Given the description of an element on the screen output the (x, y) to click on. 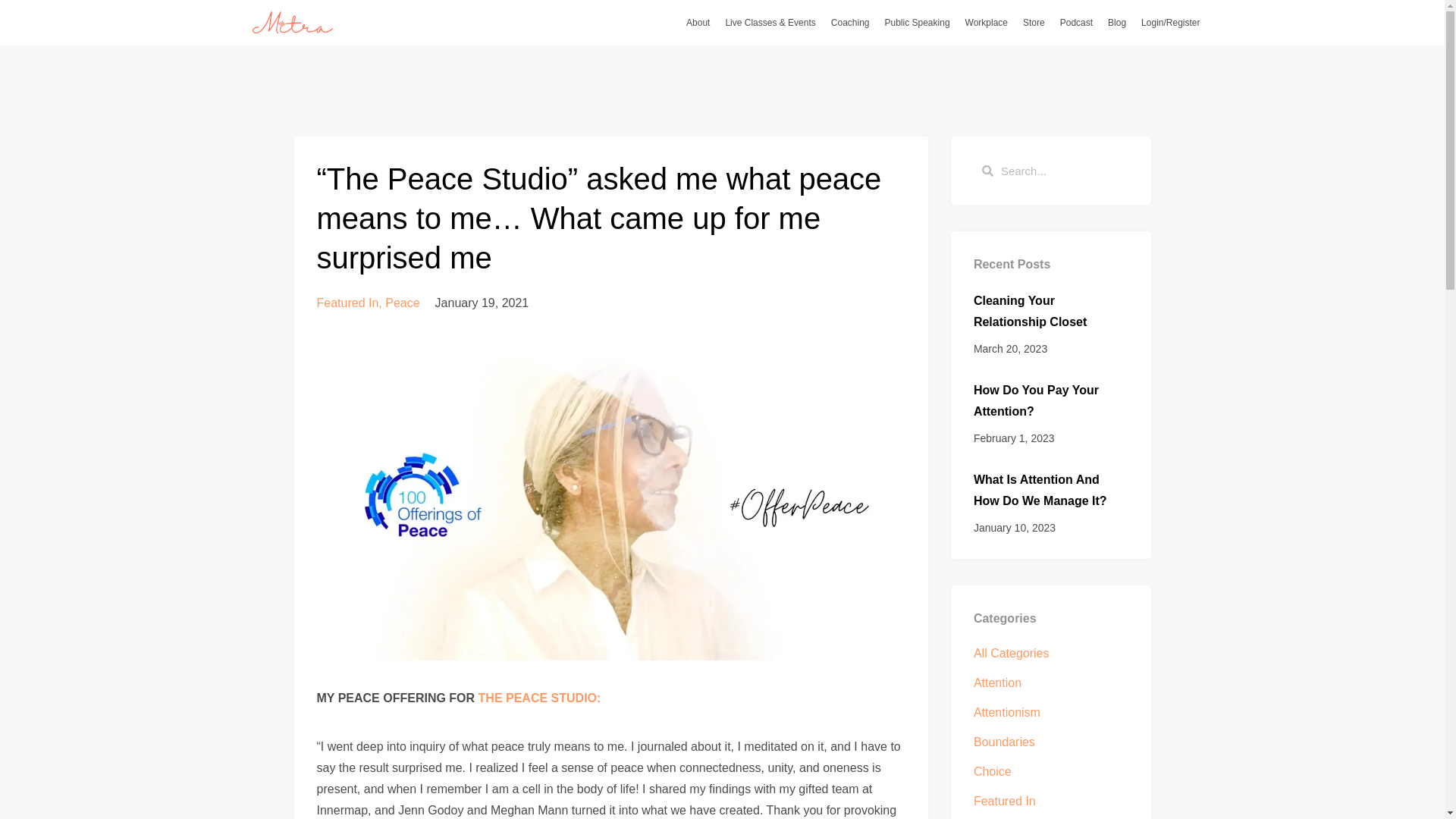
Choice (1051, 771)
What Is Attention And How Do We Manage It? (1040, 489)
Featured In (347, 302)
Attention (1051, 683)
Attentionism (1051, 712)
Boundaries (1051, 742)
All Categories (1051, 653)
THE PEACE STUDIO: (540, 697)
Cleaning Your Relationship Closet (1030, 311)
Workplace (986, 22)
